Given the description of an element on the screen output the (x, y) to click on. 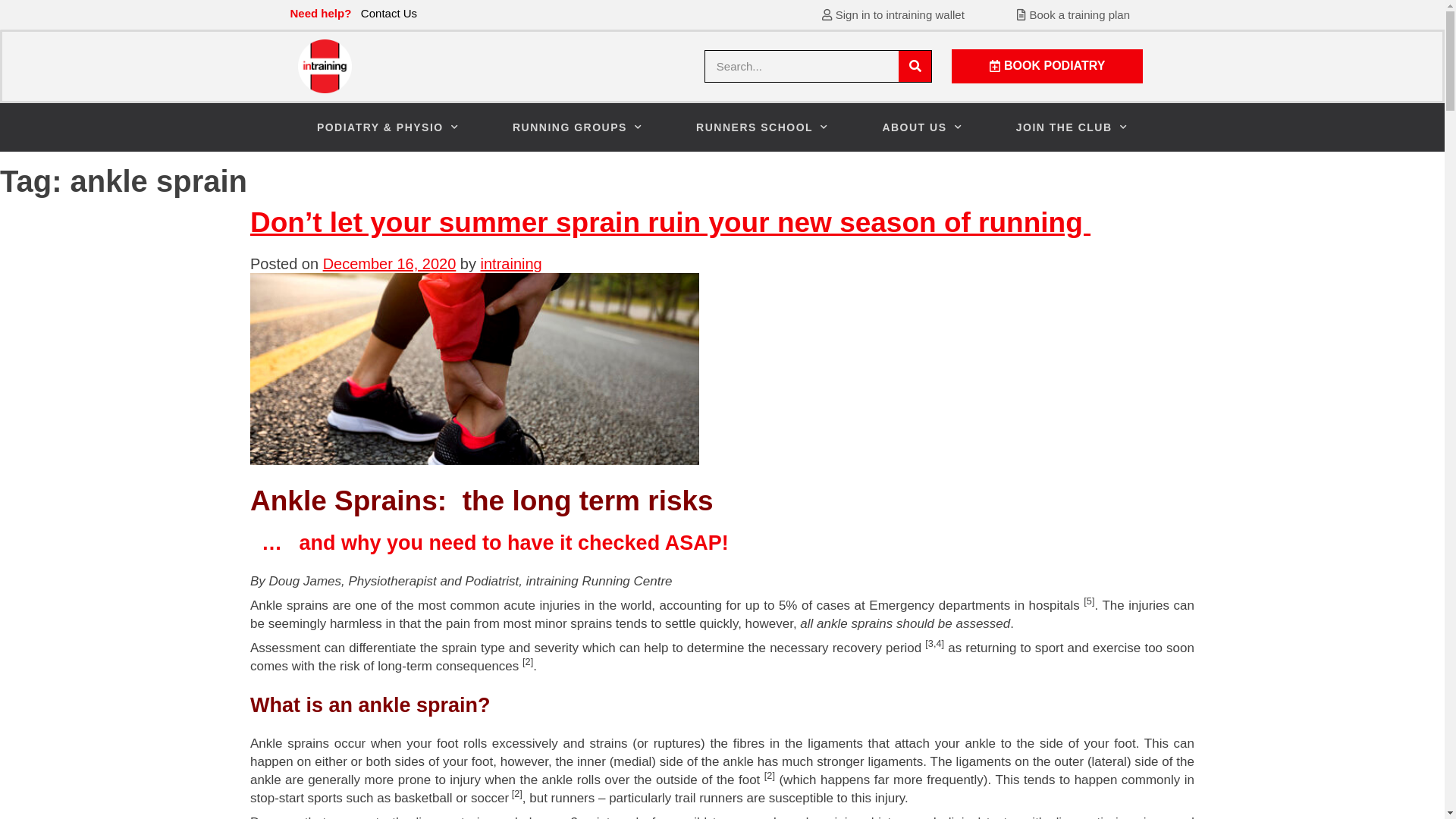
RUNNING GROUPS Element type: text (577, 127)
Sign in to intraining wallet Element type: text (892, 14)
intraining Element type: text (511, 263)
PODIATRY & PHYSIO Element type: text (387, 127)
ABOUT US Element type: text (921, 127)
RUNNERS SCHOOL Element type: text (762, 127)
Book a training plan Element type: text (1073, 14)
BOOK PODIATRY Element type: text (1046, 66)
JOIN THE CLUB Element type: text (1071, 127)
December 16, 2020 Element type: text (389, 263)
Contact Us Element type: text (388, 12)
